Given the description of an element on the screen output the (x, y) to click on. 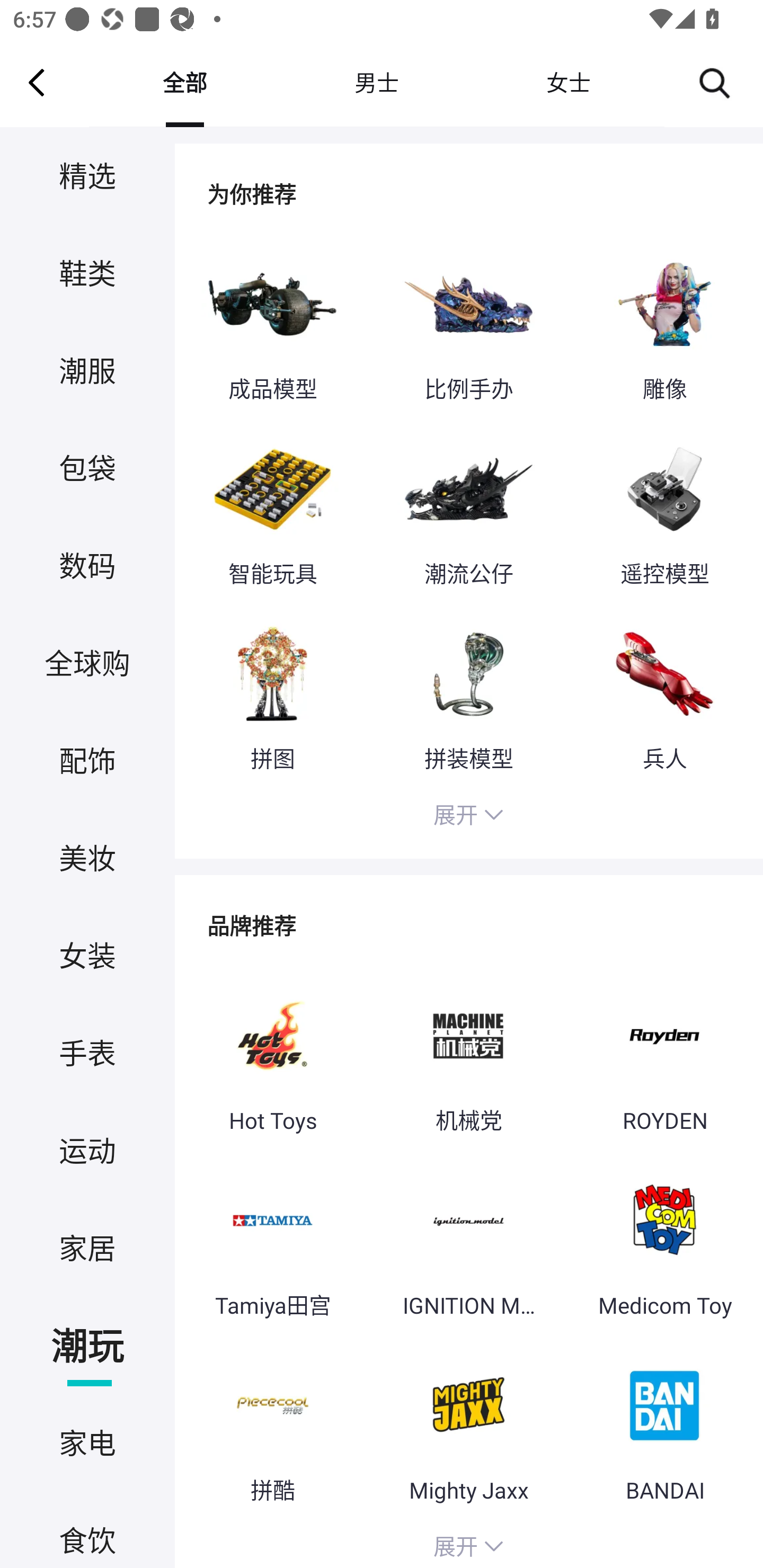
Navigate up (36, 82)
全部 (184, 82)
男士 (376, 82)
女士 (568, 82)
成品模型 (272, 325)
比例手办 (468, 325)
雕像 (664, 325)
智能玩具 (272, 510)
潮流公仔 (468, 510)
遥控模型 (664, 510)
拼图 (272, 694)
拼装模型 (468, 694)
兵人 (664, 694)
展开  (468, 817)
Hot Toys (272, 1056)
机械党 (468, 1056)
ROYDEN (664, 1056)
Tamiya田宫 (272, 1241)
IGNITION MODEL (468, 1241)
Medicom Toy (664, 1241)
拼酷 (272, 1426)
Mighty Jaxx (468, 1426)
BANDAI (664, 1426)
展开  (468, 1543)
